Given the description of an element on the screen output the (x, y) to click on. 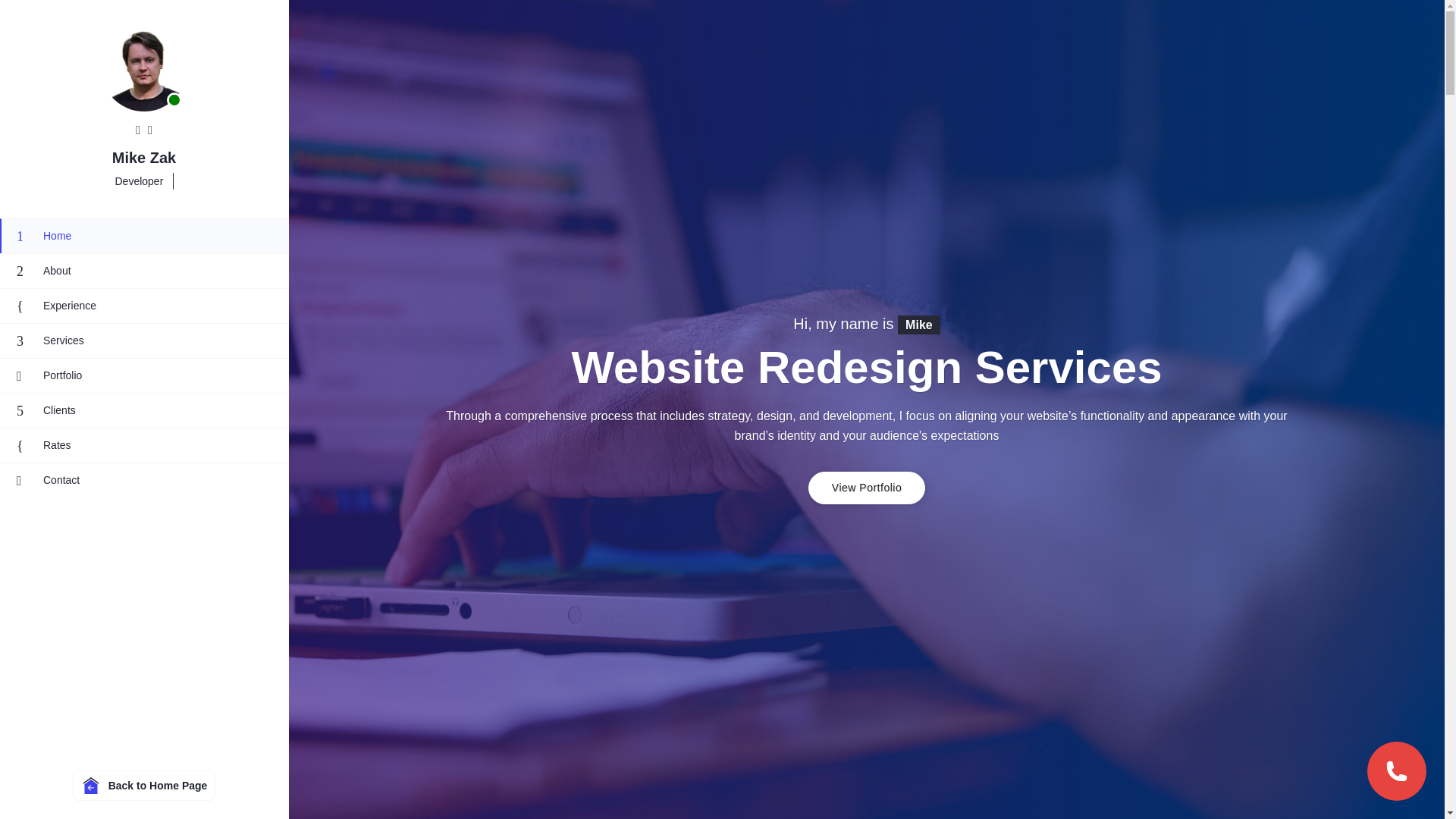
Experience (144, 305)
View Portfolio (866, 487)
Contact (144, 479)
Services (144, 339)
Clients (144, 410)
Clients (144, 410)
Home (144, 235)
View Portfolio (866, 487)
Rates (144, 444)
Home (144, 235)
About (144, 270)
Linkedin (137, 130)
Portfolio (144, 375)
Portfolio (144, 375)
Experience (144, 305)
